Given the description of an element on the screen output the (x, y) to click on. 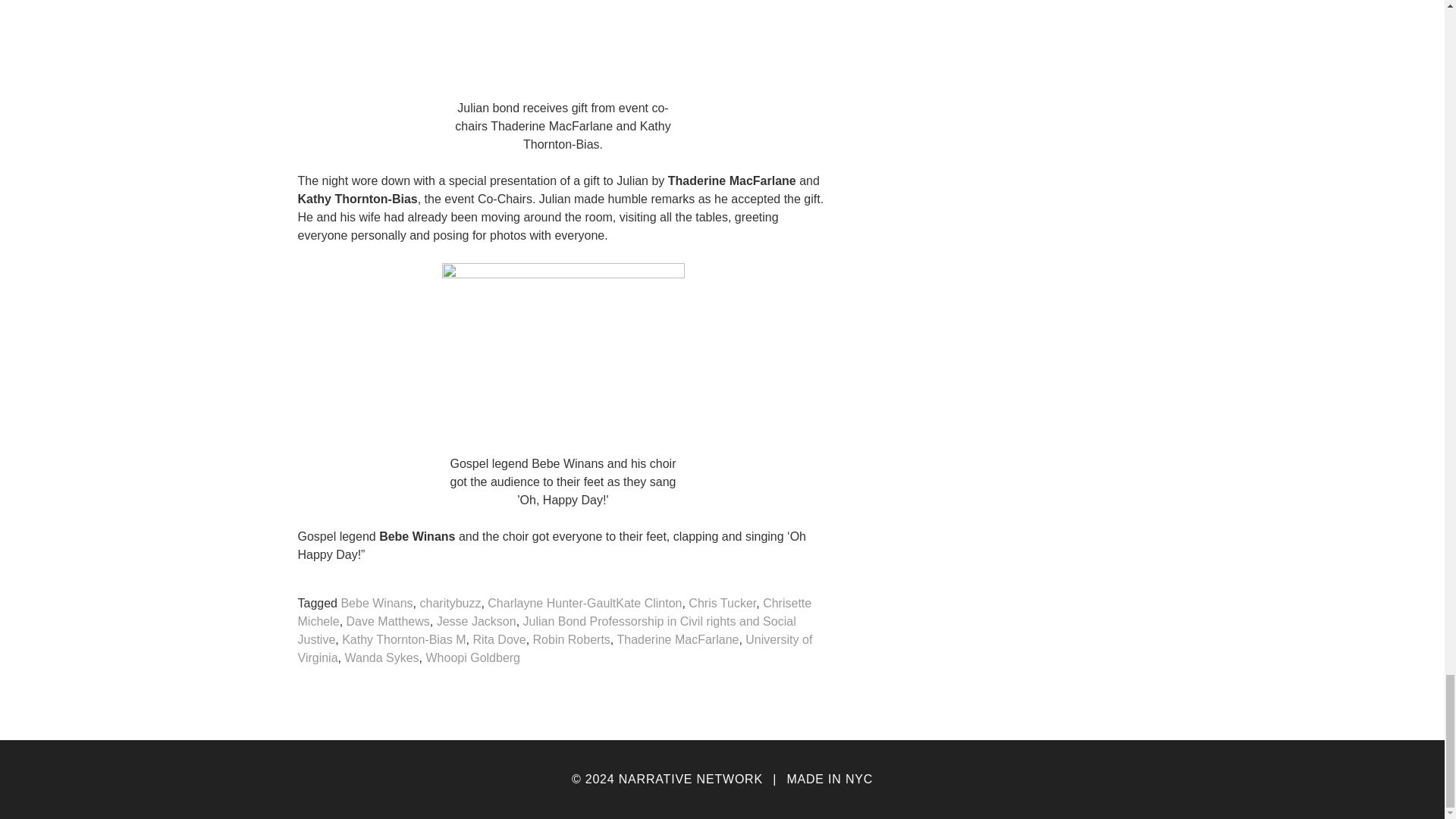
Julian Bond event (562, 353)
Chrisette Michele (553, 613)
Charlayne Hunter-GaultKate Clinton (584, 603)
Rita Dove (498, 640)
Whoopi Goldberg (472, 658)
Dave Matthews (387, 622)
Robin Roberts (571, 640)
Julian Bond event (562, 44)
Julian Bond Professorship in Civil rights and Social Justive (545, 631)
Wanda Sykes (381, 658)
